Given the description of an element on the screen output the (x, y) to click on. 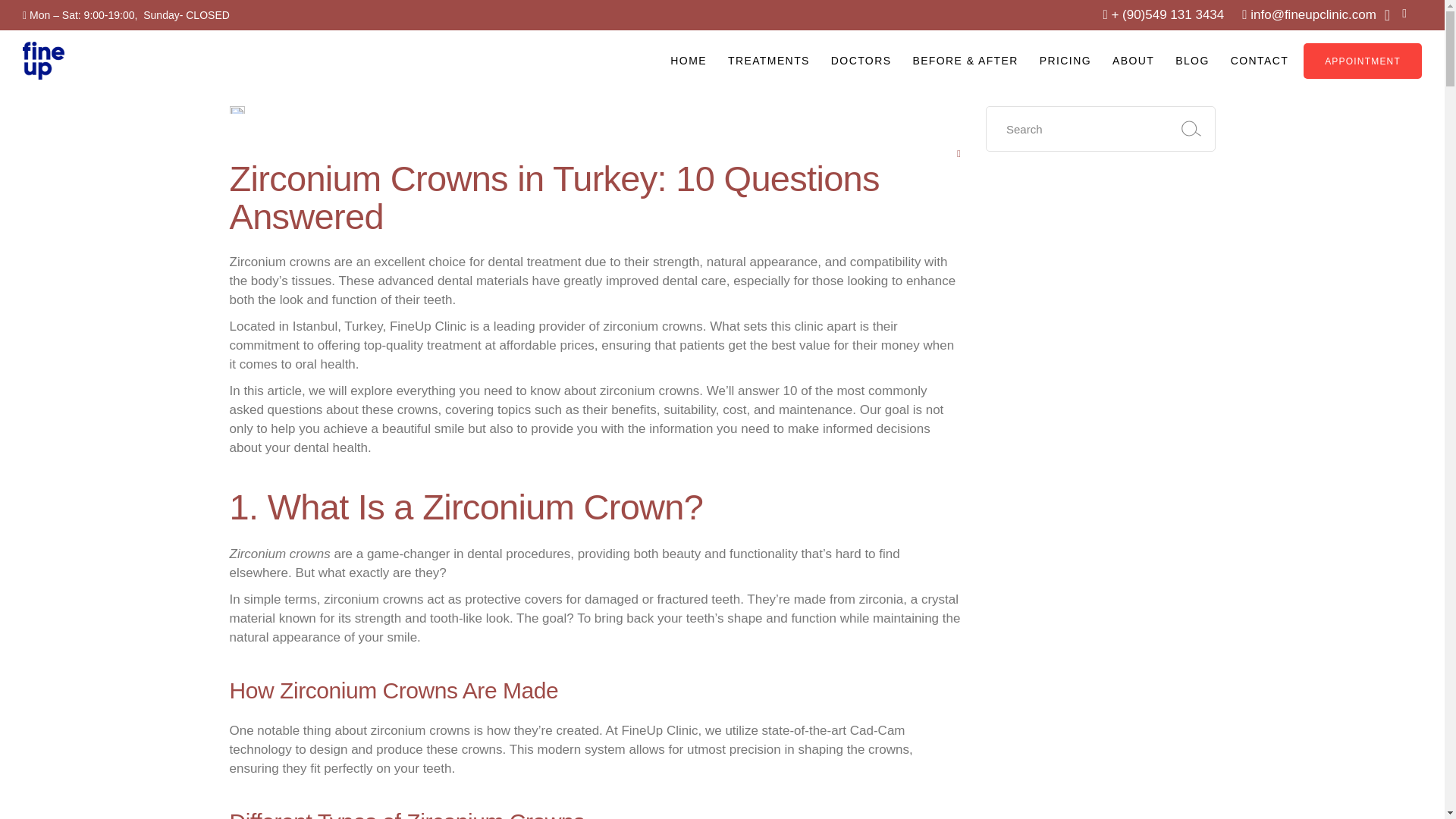
TREATMENTS (768, 60)
APPOINTMENT (1362, 59)
CONTACT (1259, 60)
DOCTORS (861, 60)
